Given the description of an element on the screen output the (x, y) to click on. 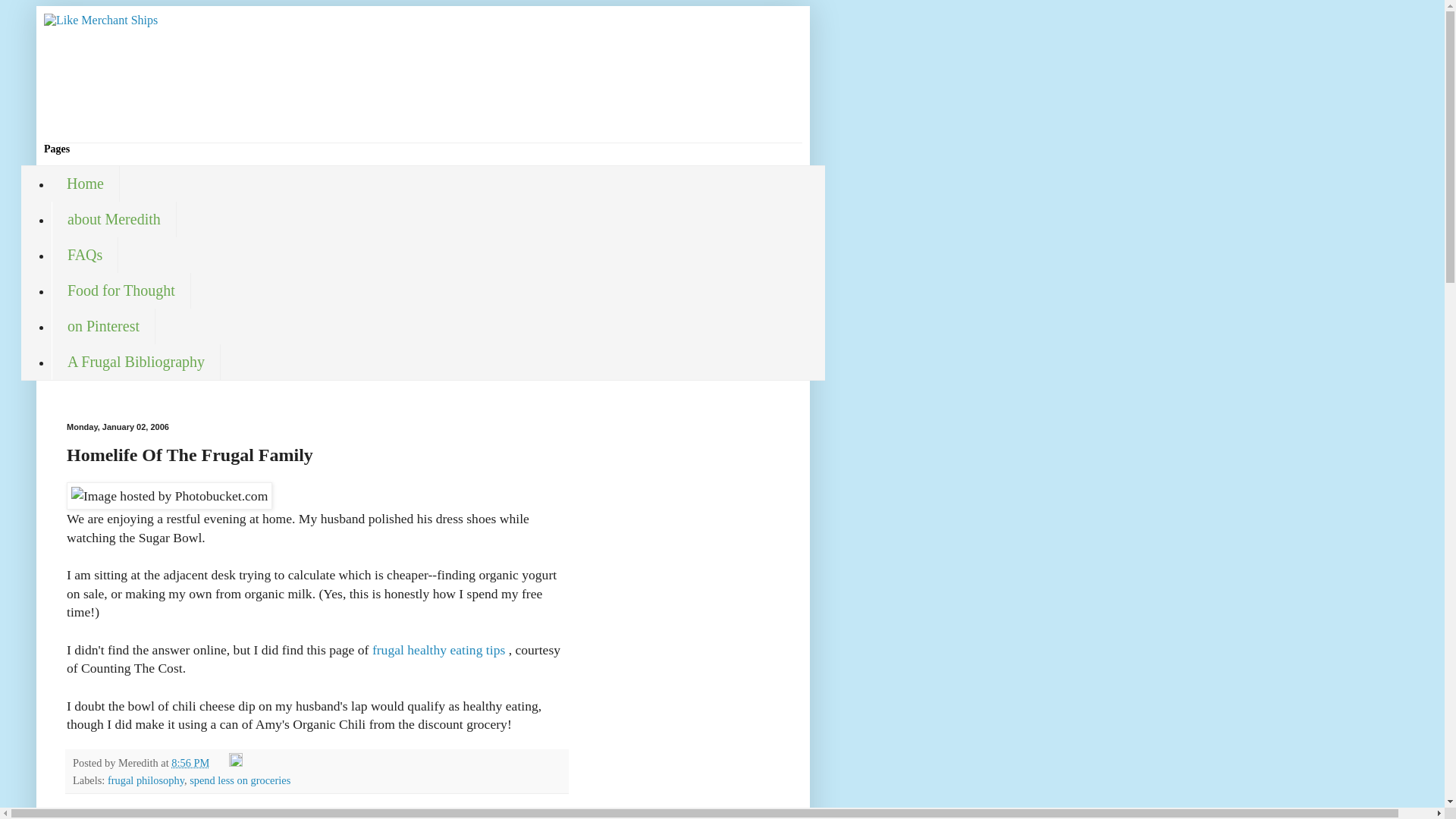
Edit Post (235, 762)
permanent link (190, 762)
A Frugal Bibliography (135, 361)
frugal healthy eating tips (440, 649)
Food for Thought (120, 290)
frugal philosophy (145, 779)
on Pinterest (102, 325)
8:56 PM (190, 762)
FAQs (83, 254)
Email Post (220, 762)
about Meredith (113, 219)
spend less on groceries (239, 779)
Home (84, 183)
